Given the description of an element on the screen output the (x, y) to click on. 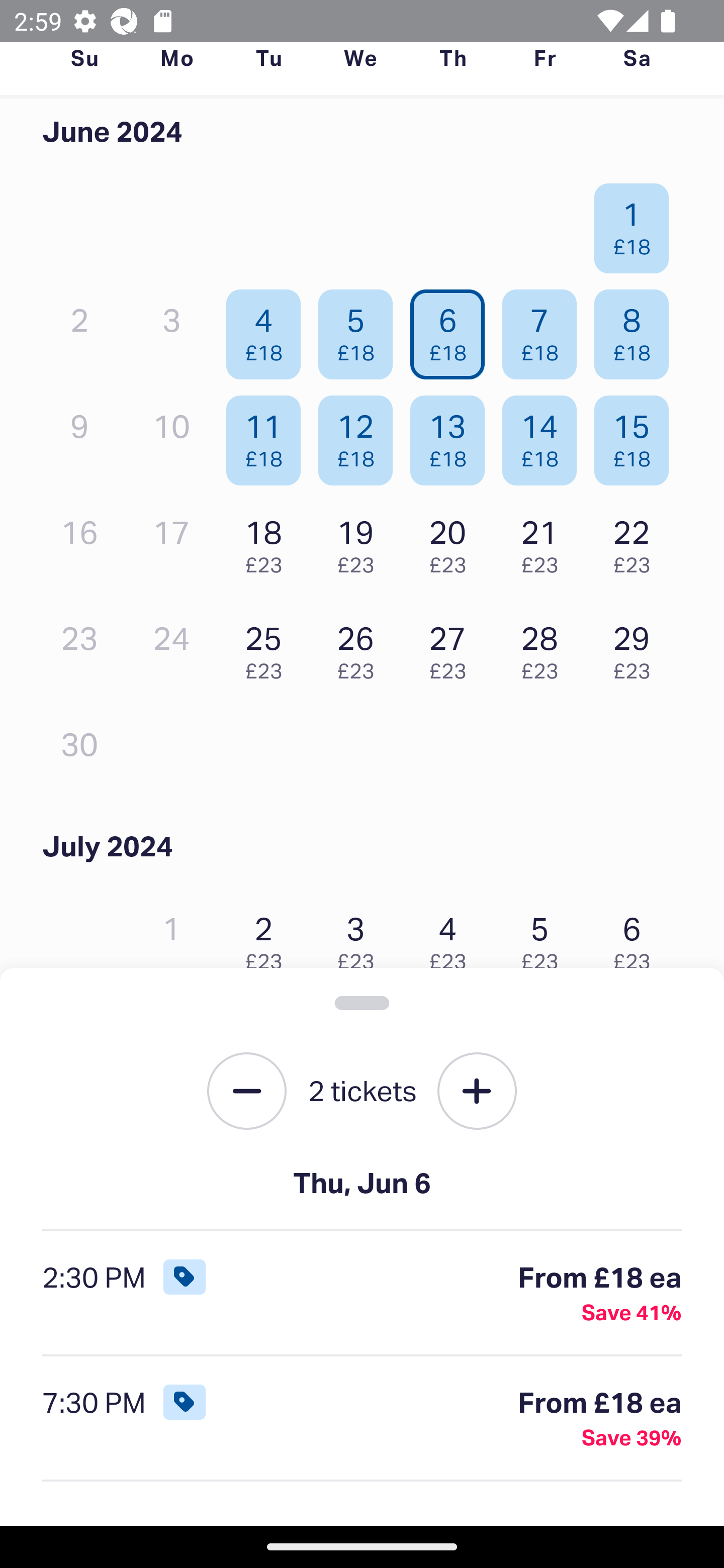
1 £18 (636, 223)
4 £18 (268, 329)
5 £18 (360, 329)
6 £18 (452, 329)
7 £18 (544, 329)
8 £18 (636, 329)
11 £18 (268, 435)
12 £18 (360, 435)
13 £18 (452, 435)
14 £18 (544, 435)
15 £18 (636, 435)
18 £23 (268, 541)
19 £23 (360, 541)
20 £23 (452, 541)
21 £23 (544, 541)
22 £23 (636, 541)
25 £23 (268, 647)
26 £23 (360, 647)
27 £23 (452, 647)
28 £23 (544, 647)
29 £23 (636, 647)
2 £23 (268, 938)
3 £23 (360, 938)
4 £23 (452, 938)
5 £23 (544, 938)
6 £23 (636, 938)
2:30 PM From £18 ea Save 41% (361, 1293)
7:30 PM From £18 ea Save 39% (361, 1418)
